Given the description of an element on the screen output the (x, y) to click on. 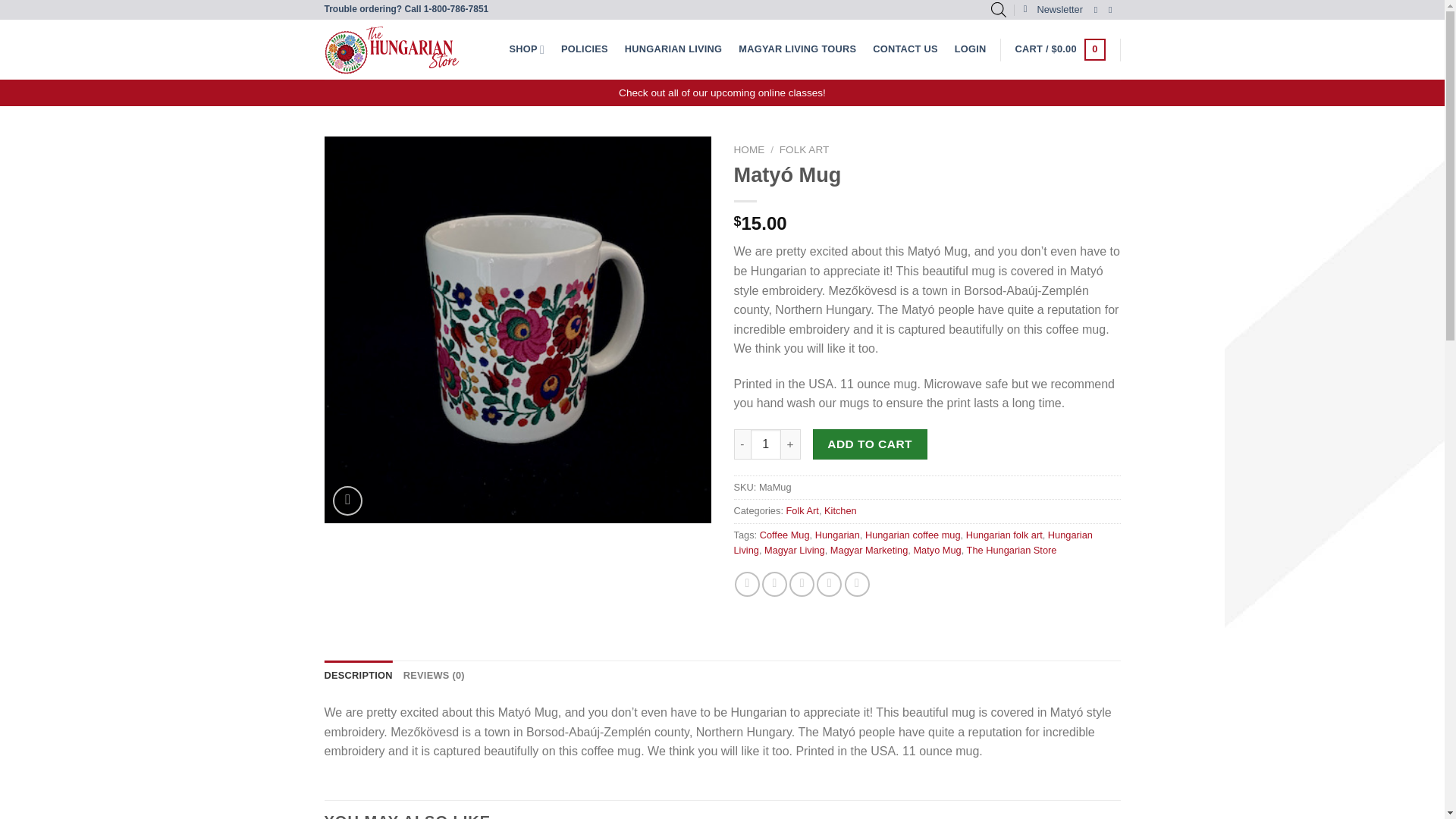
Follow on Facebook (1098, 9)
HOME (749, 149)
Contact Magyarmarketing (904, 49)
Sign up for Newsletter (1053, 9)
1-800-786-7851 (455, 9)
LOGIN (971, 49)
Cart (1059, 49)
Login (971, 49)
Newsletter (1053, 9)
Follow on Instagram (1113, 9)
POLICIES (584, 49)
HUNGARIAN LIVING (673, 49)
SHOP (526, 49)
Back to Magyar Marketing Non-Store Site (673, 49)
